Given the description of an element on the screen output the (x, y) to click on. 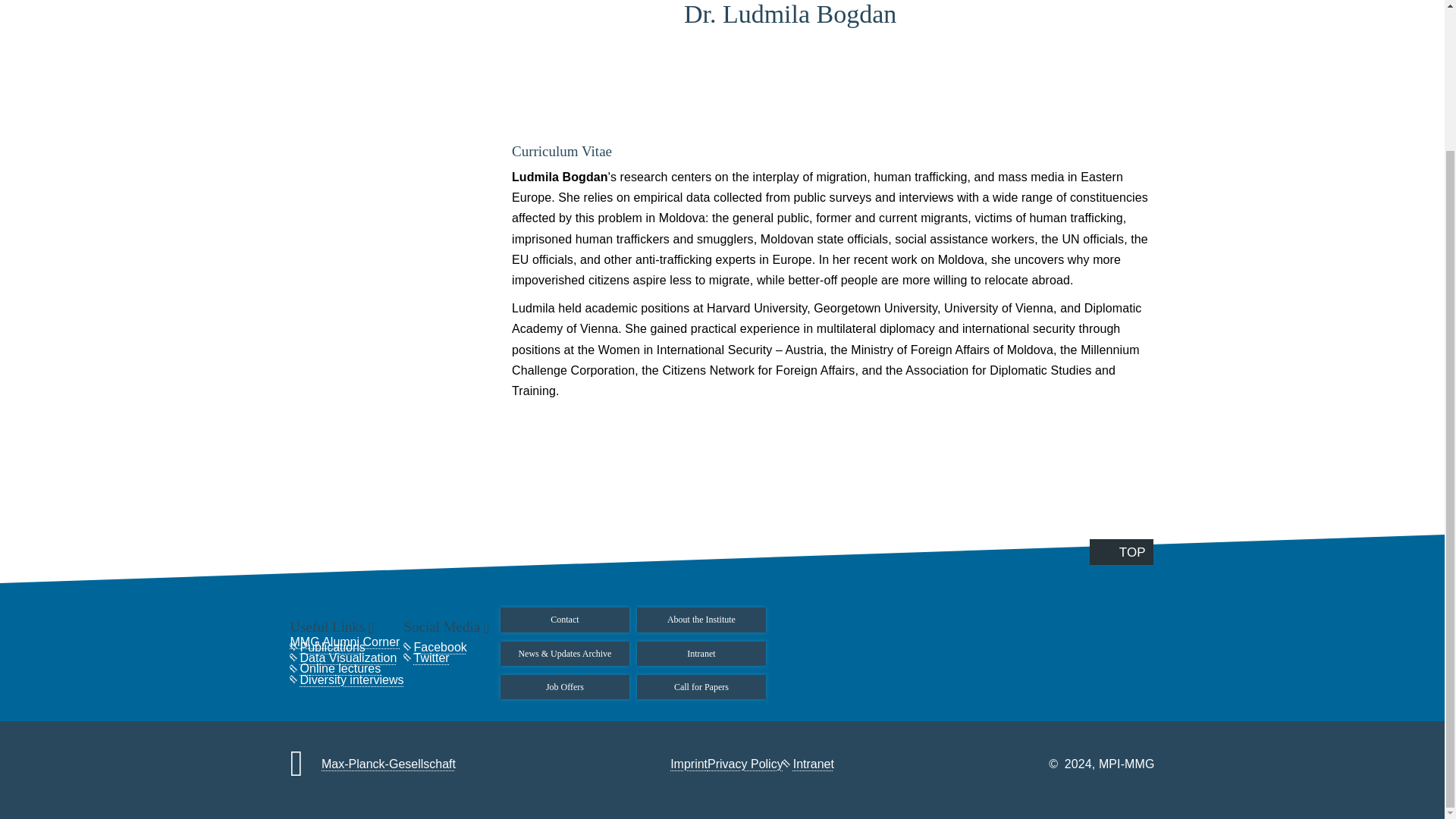
Print (1177, 214)
LinkedIn (1177, 44)
Facebook (1177, 11)
Twitter (1177, 112)
E-Mail (1177, 180)
Reddit (1177, 78)
Xing (1177, 146)
